Given the description of an element on the screen output the (x, y) to click on. 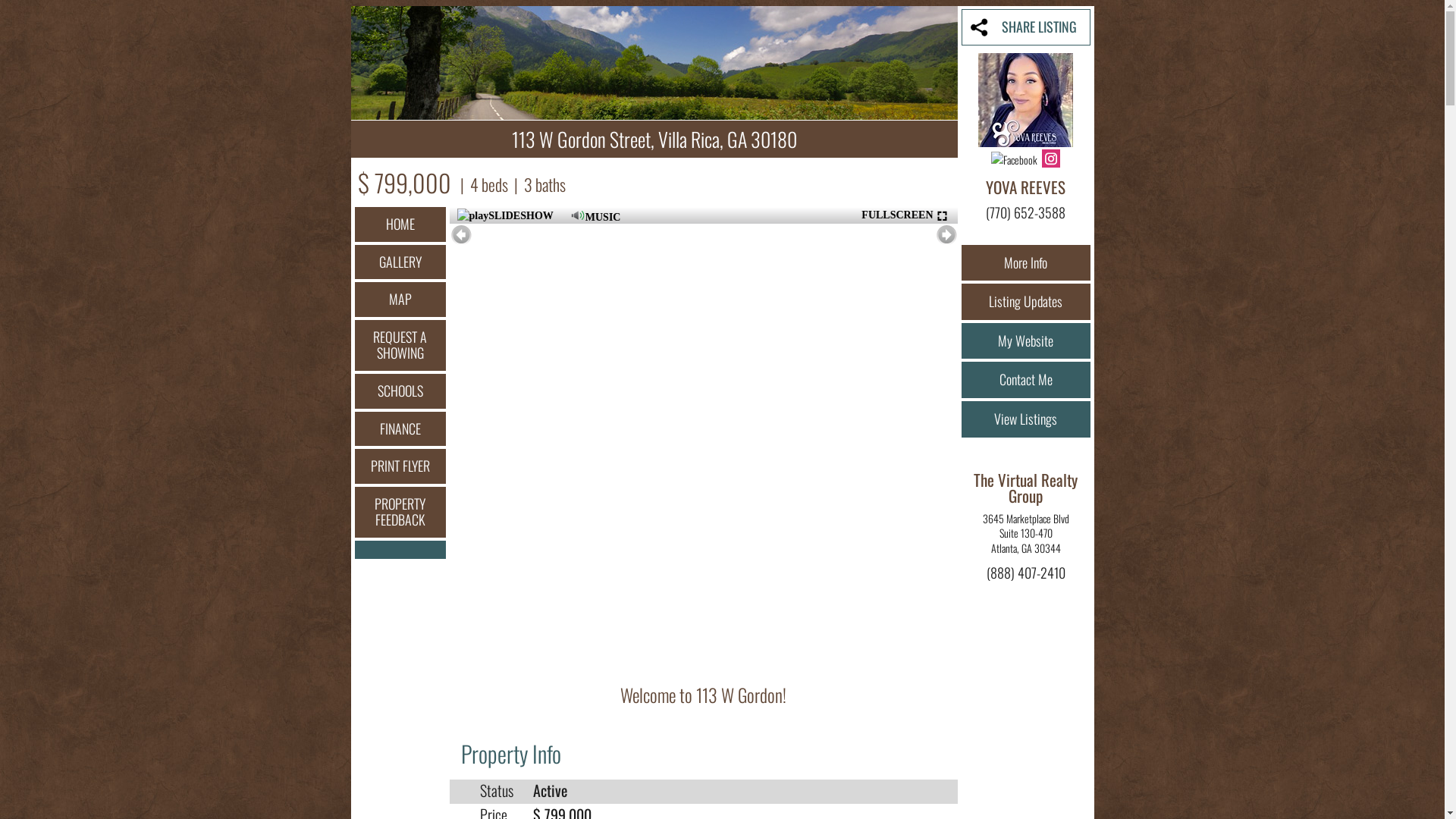
FINANCE Element type: text (399, 428)
SCHOOLS Element type: text (399, 390)
Listing Updates Element type: text (1025, 301)
GALLERY Element type: text (399, 261)
PRINT FLYER Element type: text (399, 465)
REQUEST A SHOWING Element type: text (399, 345)
My Website Element type: text (1025, 341)
MAP Element type: text (399, 299)
YOVA REEVES Element type: text (1025, 186)
More Info Element type: text (1025, 262)
SHARE LISTING Element type: text (1025, 27)
Contact Me Element type: text (1025, 379)
PROPERTY FEEDBACK Element type: text (399, 511)
View Listings Element type: text (1025, 419)
HOME Element type: text (399, 224)
